Given the description of an element on the screen output the (x, y) to click on. 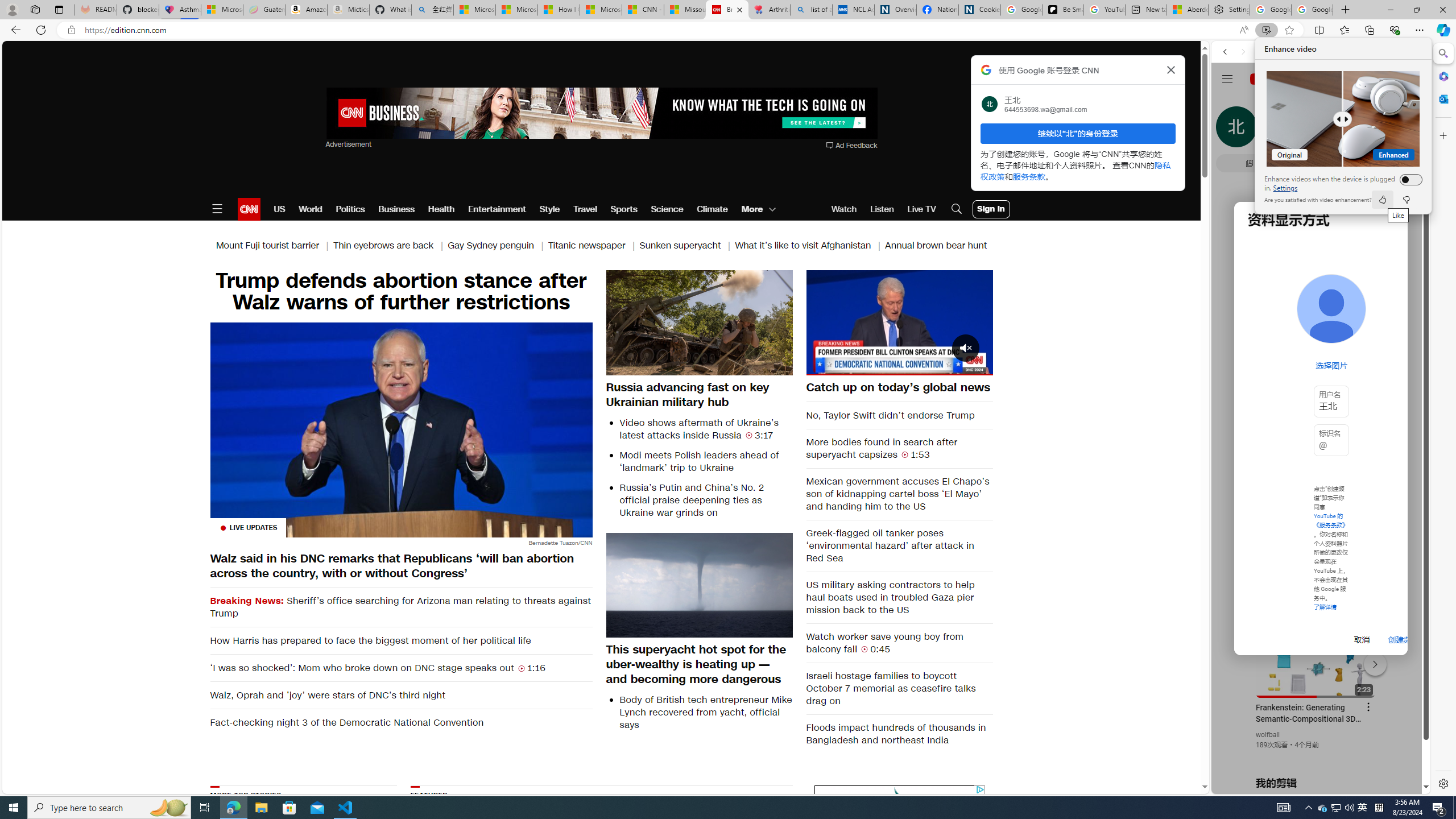
Visual Studio Code - 1 running window (345, 807)
Q2790: 100% (1362, 807)
YouTube - YouTube (1349, 807)
Fullscreen (1315, 560)
US[ju] (976, 365)
Unmute (1249, 785)
US (821, 365)
Notification Chevron (279, 209)
Class: Bz112c Bz112c-r9oPif (1308, 807)
